Given the description of an element on the screen output the (x, y) to click on. 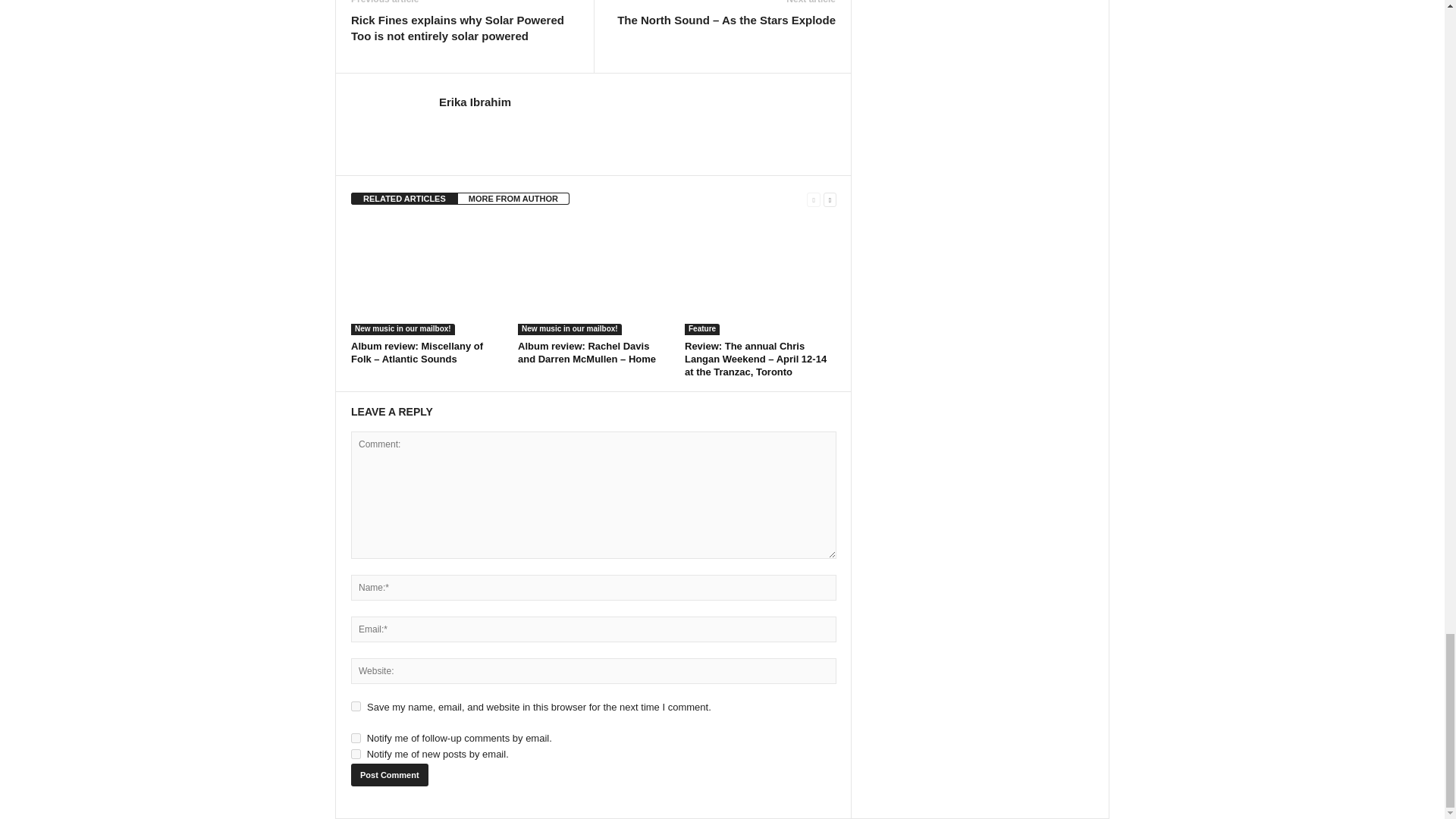
subscribe (355, 754)
Post Comment (389, 774)
yes (355, 706)
subscribe (355, 737)
